Given the description of an element on the screen output the (x, y) to click on. 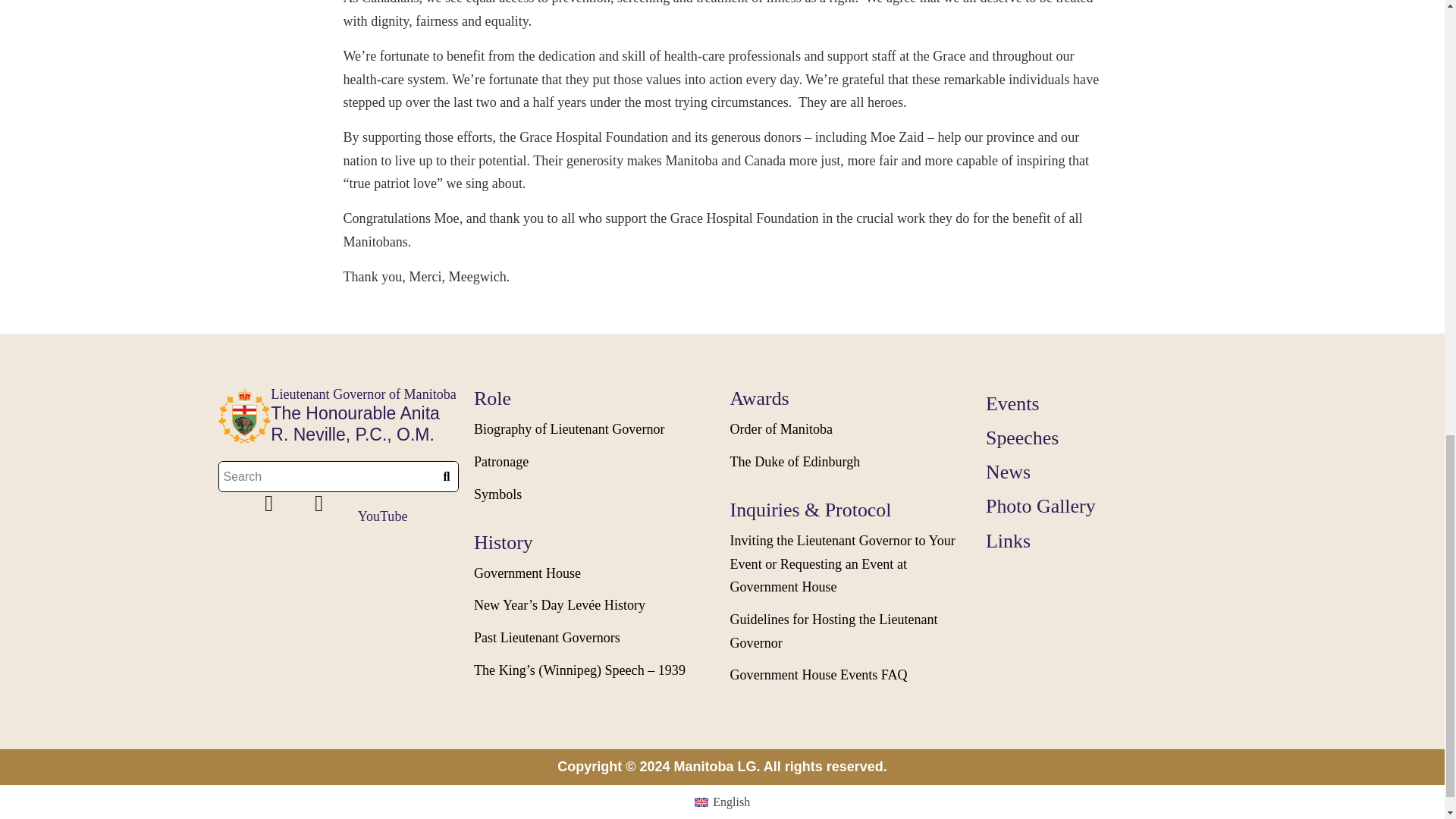
Search (326, 476)
